Given the description of an element on the screen output the (x, y) to click on. 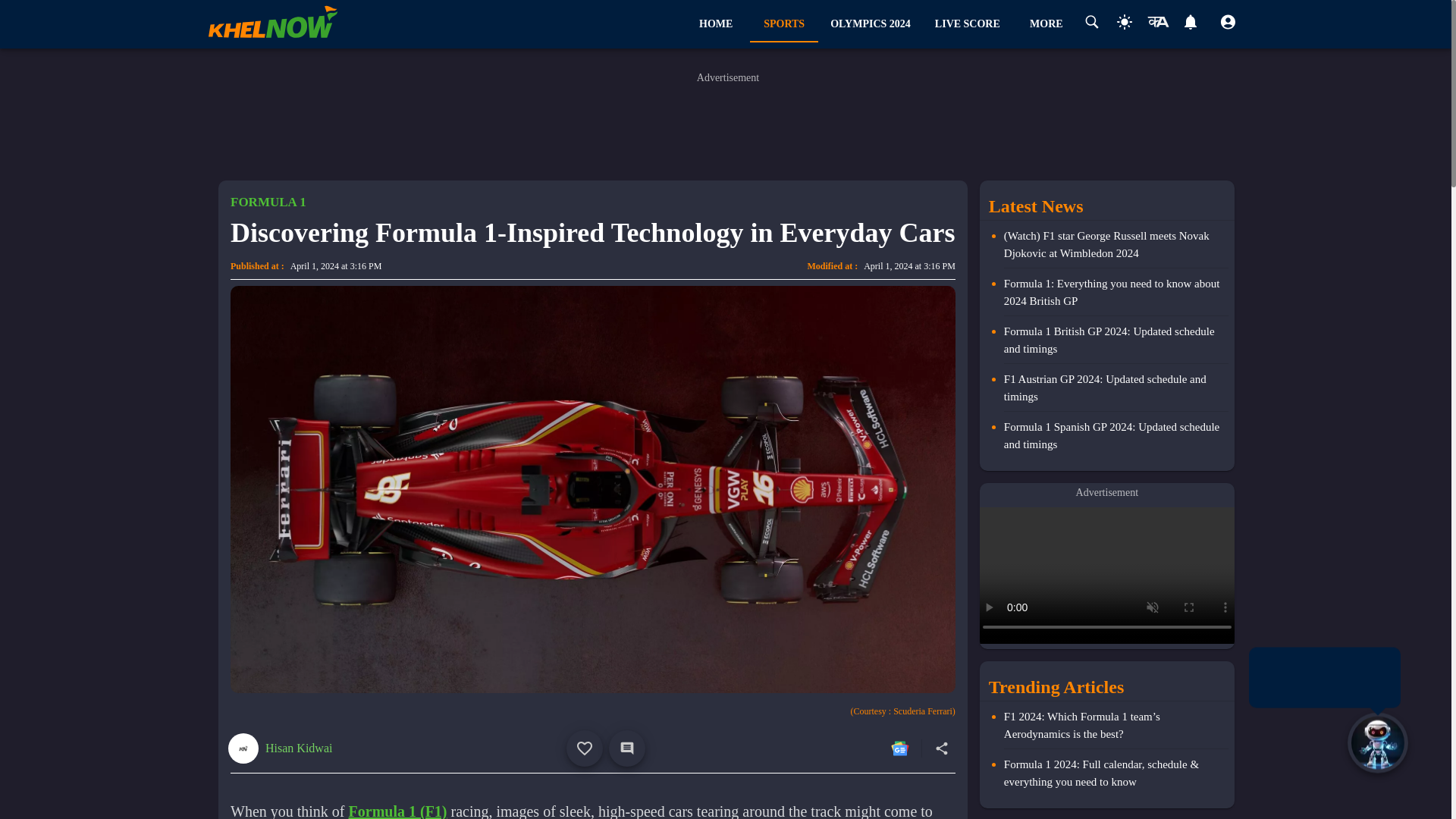
Formula 1: Everything you need to know about 2024 British GP (1116, 295)
Formula 1 Spanish GP 2024: Updated schedule and timings (1116, 435)
Formula 1 British GP 2024: Updated schedule and timings (1116, 342)
Hisan Kidwai (297, 748)
OLYMPICS 2024 (880, 23)
MORE (870, 23)
HOME (1045, 23)
SPORTS (715, 23)
FORMULA 1 (783, 23)
